Given the description of an element on the screen output the (x, y) to click on. 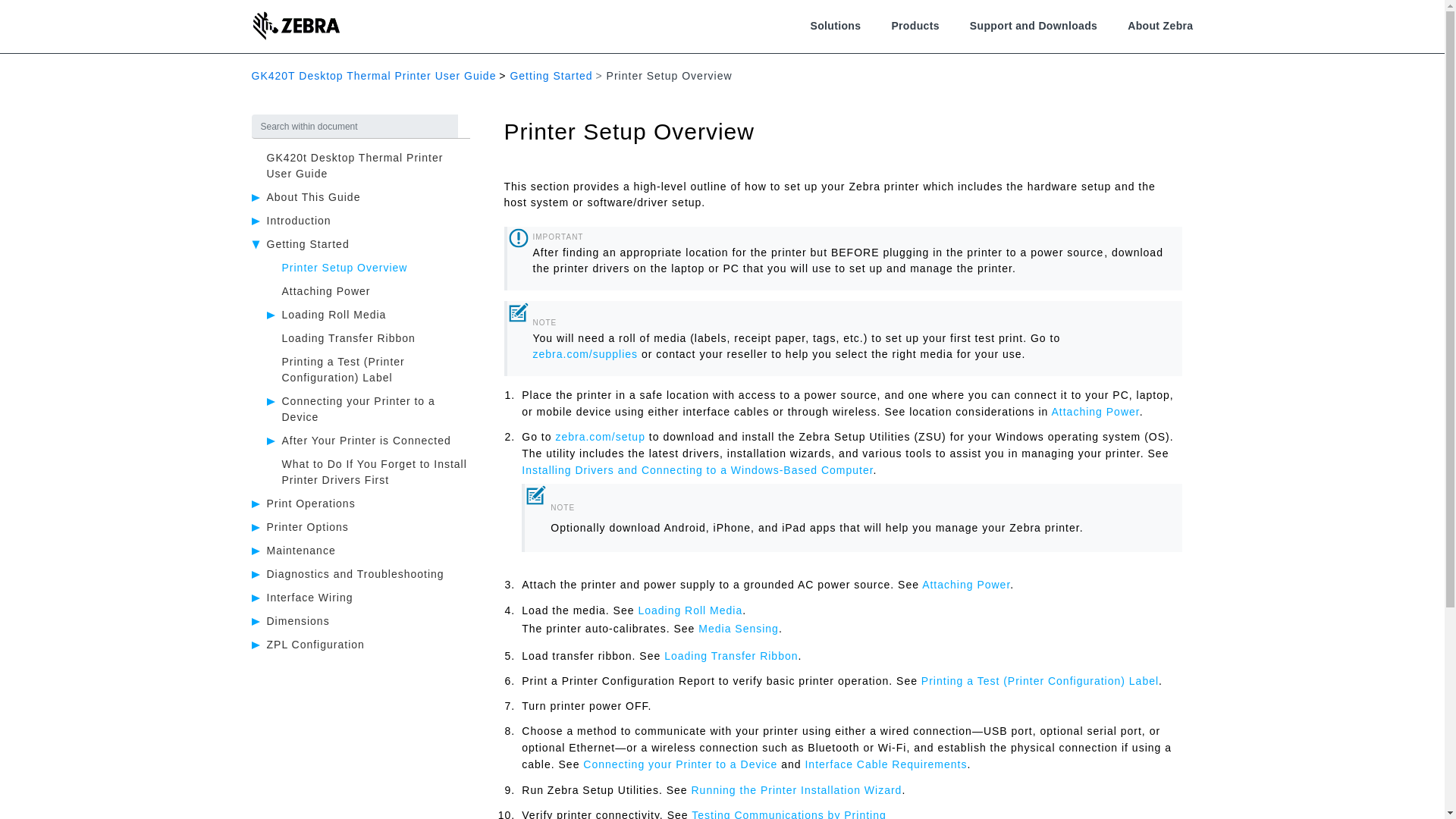
About Zebra (1159, 26)
Getting Started (307, 244)
Solutions (834, 26)
Loading Roll Media (334, 314)
Introduction (298, 220)
GK420t Desktop Thermal Printer User Guide (355, 165)
Printer Setup Overview (344, 267)
About This Guide (313, 196)
Support and Downloads (1033, 26)
Getting Started (550, 75)
Products (915, 26)
Connecting your Printer to a Device (358, 408)
GK420T Desktop Thermal Printer User Guide (373, 75)
Attaching Power (326, 291)
Loading Transfer Ribbon (348, 337)
